Given the description of an element on the screen output the (x, y) to click on. 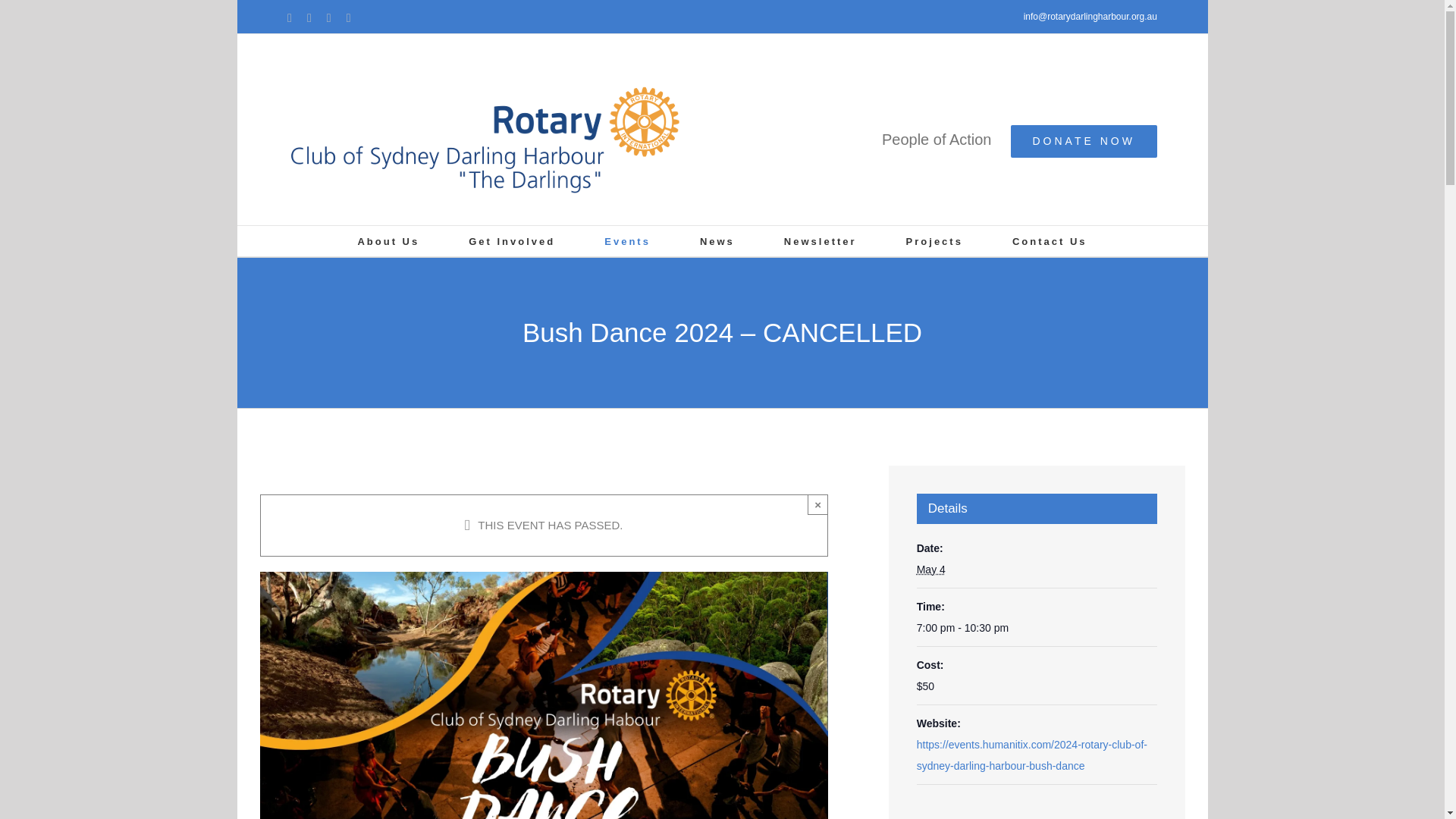
2024-05-04 (1037, 627)
Get Involved (511, 241)
Events (627, 241)
News (717, 241)
DONATE NOW (1083, 141)
Newsletter (820, 241)
Projects (933, 241)
2024-05-04 (930, 569)
About Us (387, 241)
Contact Us (1049, 241)
